Given the description of an element on the screen output the (x, y) to click on. 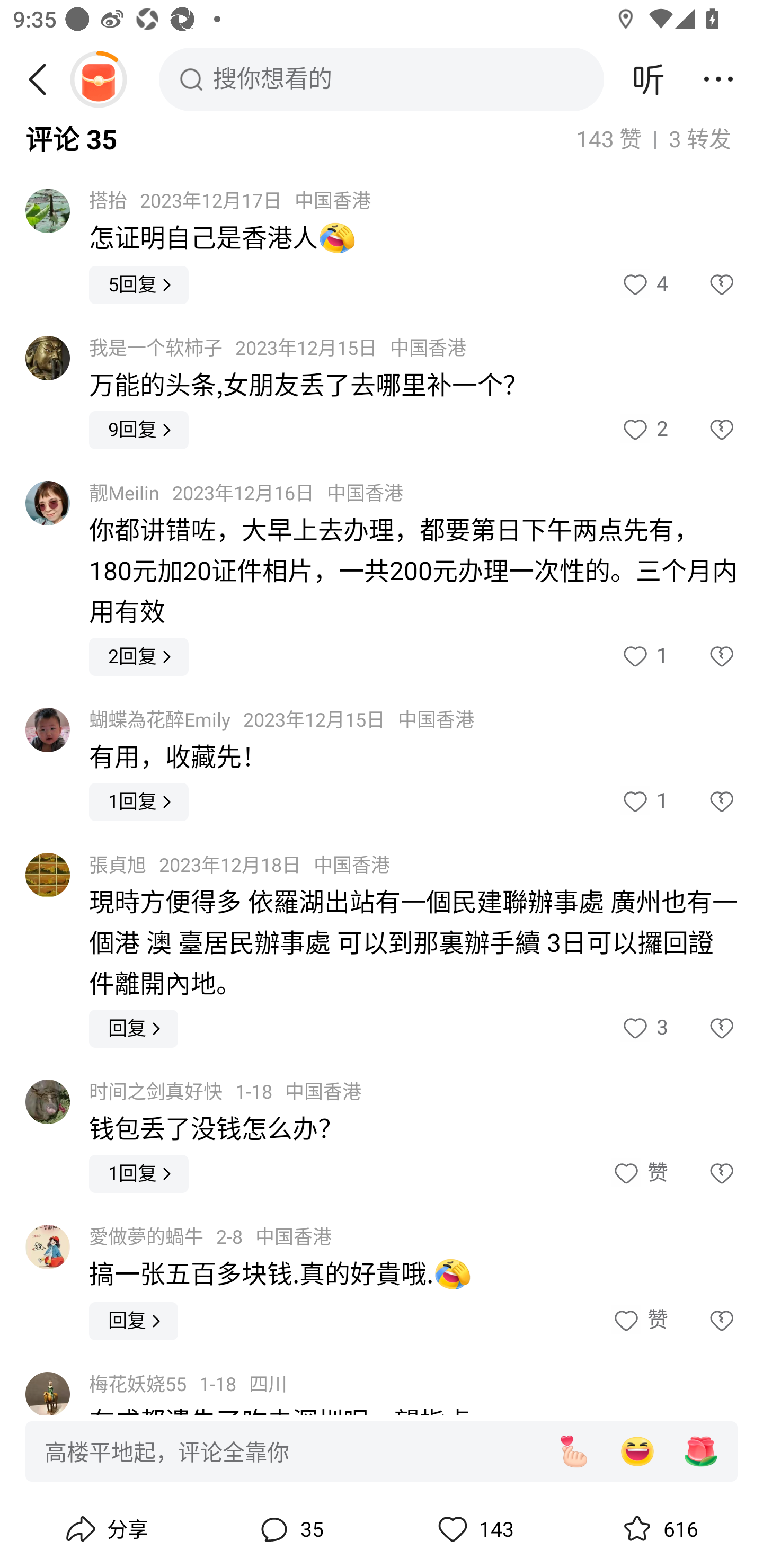
返回 (44, 78)
听头条 (648, 78)
更多操作 (718, 78)
搜你想看的 搜索框，搜你想看的 (381, 79)
阅读赚金币 (98, 79)
搭抬 2023年12月17日 中国香港 (229, 200)
5回复 (138, 285)
赞4 赞 (643, 285)
踩 (702, 285)
我是一个软柿子 2023年12月15日 中国香港 (277, 348)
9回复 (138, 429)
赞2 赞 (643, 429)
踩 (702, 429)
靓Meilin 2023年12月16日 中国香港 (245, 493)
2回复 (138, 656)
赞1 赞 (643, 656)
踩 (702, 656)
蝴蝶為花醉Emily 2023年12月15日 中国香港 (281, 720)
1回复 (138, 801)
赞1 赞 (643, 801)
踩 (702, 801)
張貞旭 2023年12月18日 中国香港 (239, 865)
回复 (133, 1028)
赞3 赞 (643, 1028)
踩 (702, 1028)
时间之剑真好快 1-18 中国香港 (225, 1092)
1回复 (138, 1173)
赞 (638, 1174)
踩 (702, 1174)
愛做夢的蝸牛 2-8 中国香港 (210, 1237)
回复 (133, 1320)
赞 (638, 1320)
踩 (702, 1320)
梅花妖娆55 1-18 四川 (187, 1384)
高楼平地起，评论全靠你 [比心] [大笑] [玫瑰] (381, 1449)
[比心] (573, 1451)
[大笑] (636, 1451)
[玫瑰] (700, 1451)
分享 (104, 1529)
评论,35 35 (288, 1529)
收藏,616 616 (658, 1529)
